Given the description of an element on the screen output the (x, y) to click on. 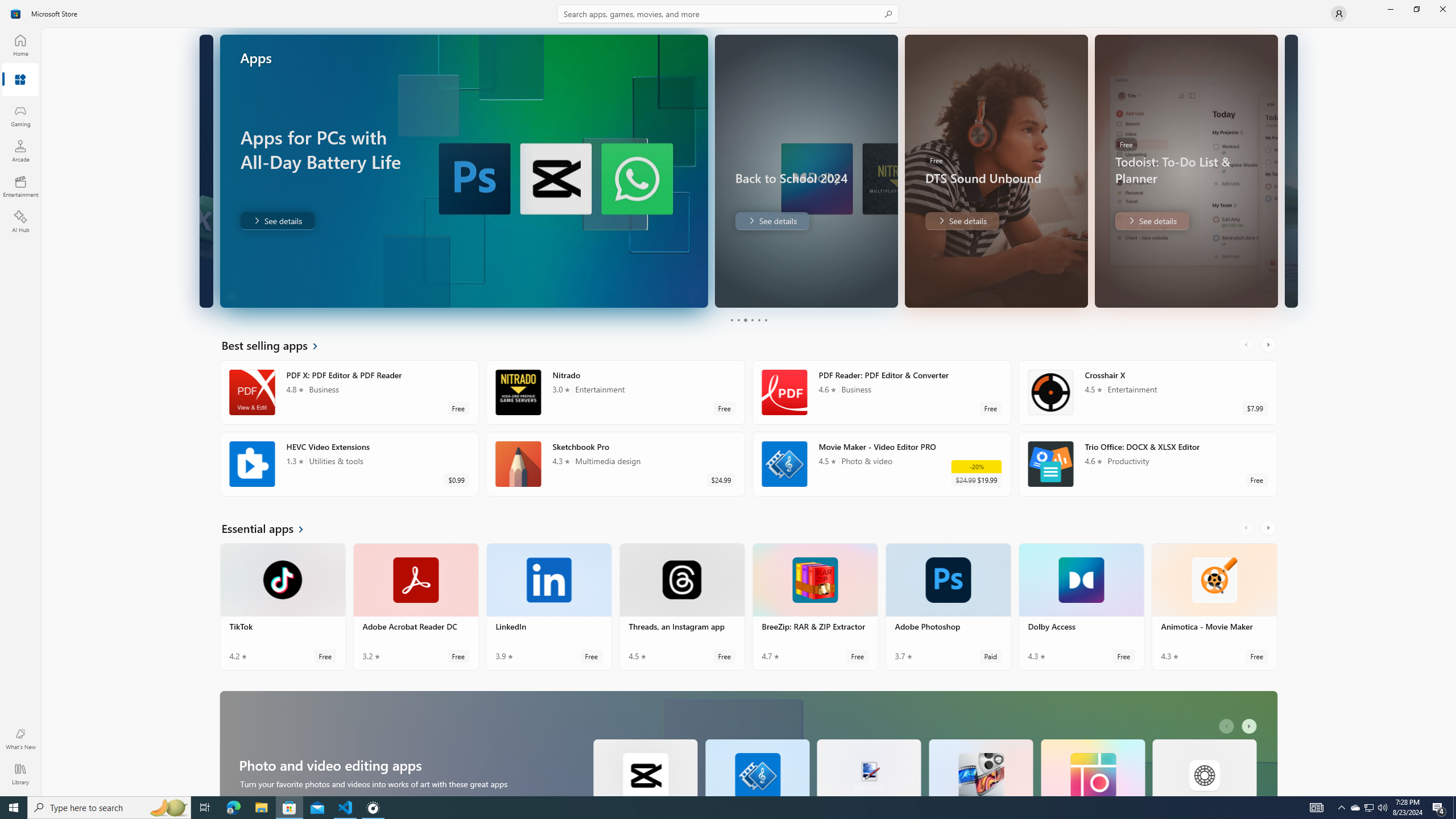
TikTok. Average rating of 4.2 out of five stars. Free   (282, 606)
Pic Collage. Average rating of 4.8 out of five stars. Free   (1092, 767)
AutomationID: NavigationControl (728, 398)
CapCut. Average rating of 4.7 out of five stars. Free   (644, 767)
Page 6 (764, 319)
Pager (748, 319)
Page 3 (744, 319)
Page 1 (731, 319)
